Given the description of an element on the screen output the (x, y) to click on. 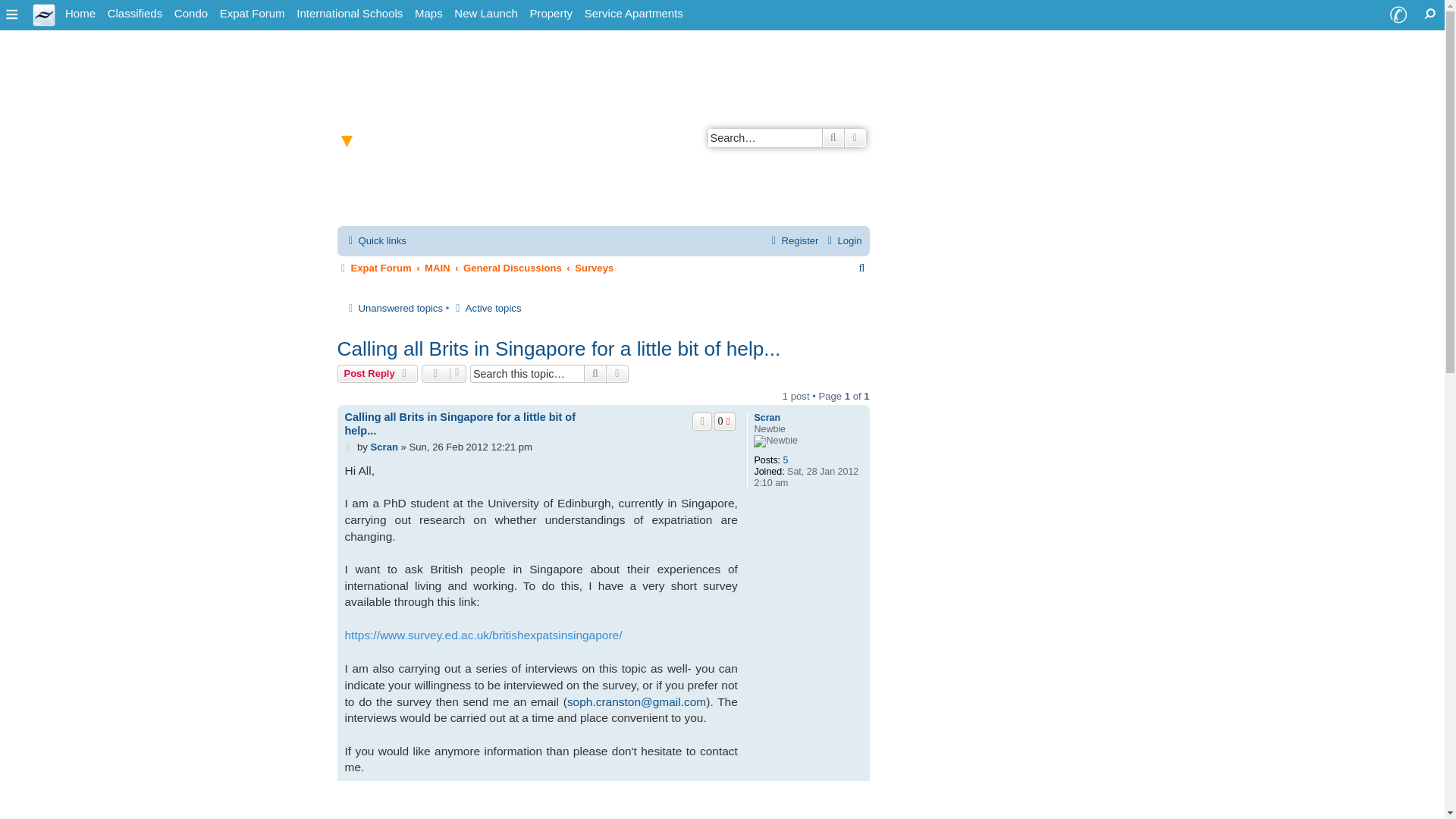
Condo (191, 13)
Service Apartments (633, 13)
Classifieds (135, 13)
New Property Launch (485, 13)
International Schools (349, 13)
Singapore Service Apartments (633, 13)
Expat Forum (252, 13)
New Launch (485, 13)
Singapore International Schools (349, 13)
Home (80, 13)
